Given the description of an element on the screen output the (x, y) to click on. 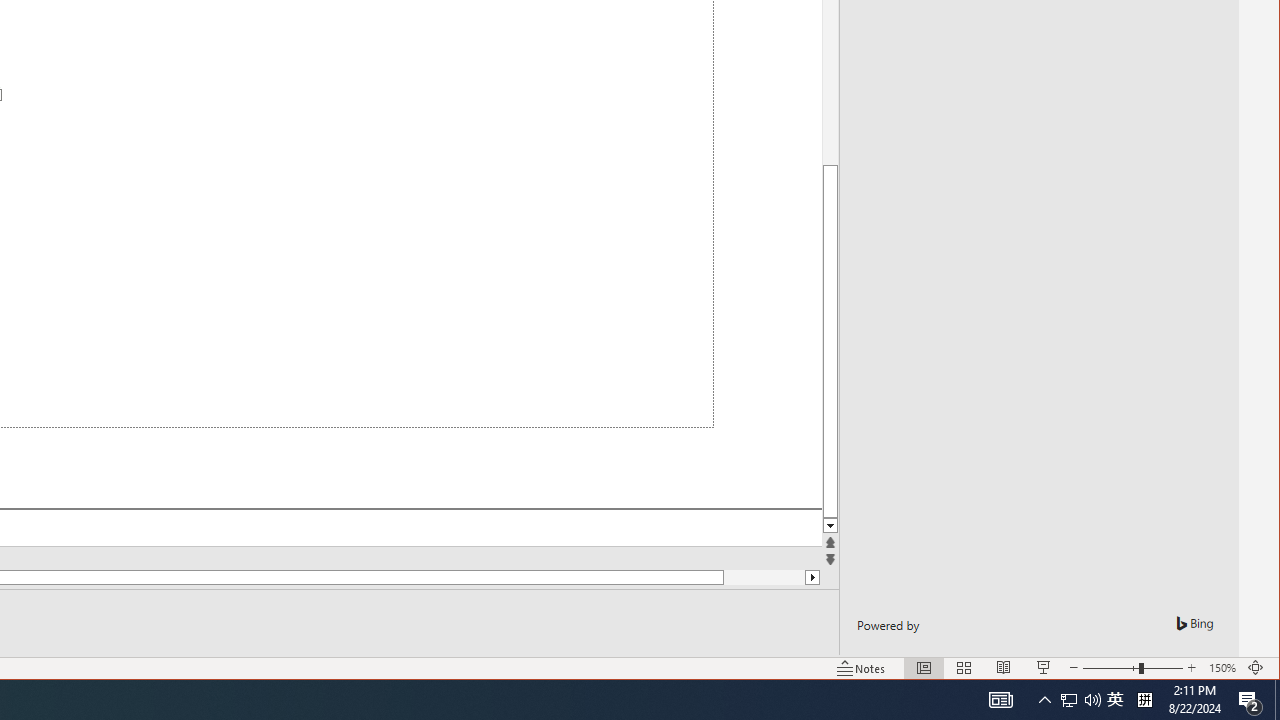
Zoom 150% (1222, 668)
